Given the description of an element on the screen output the (x, y) to click on. 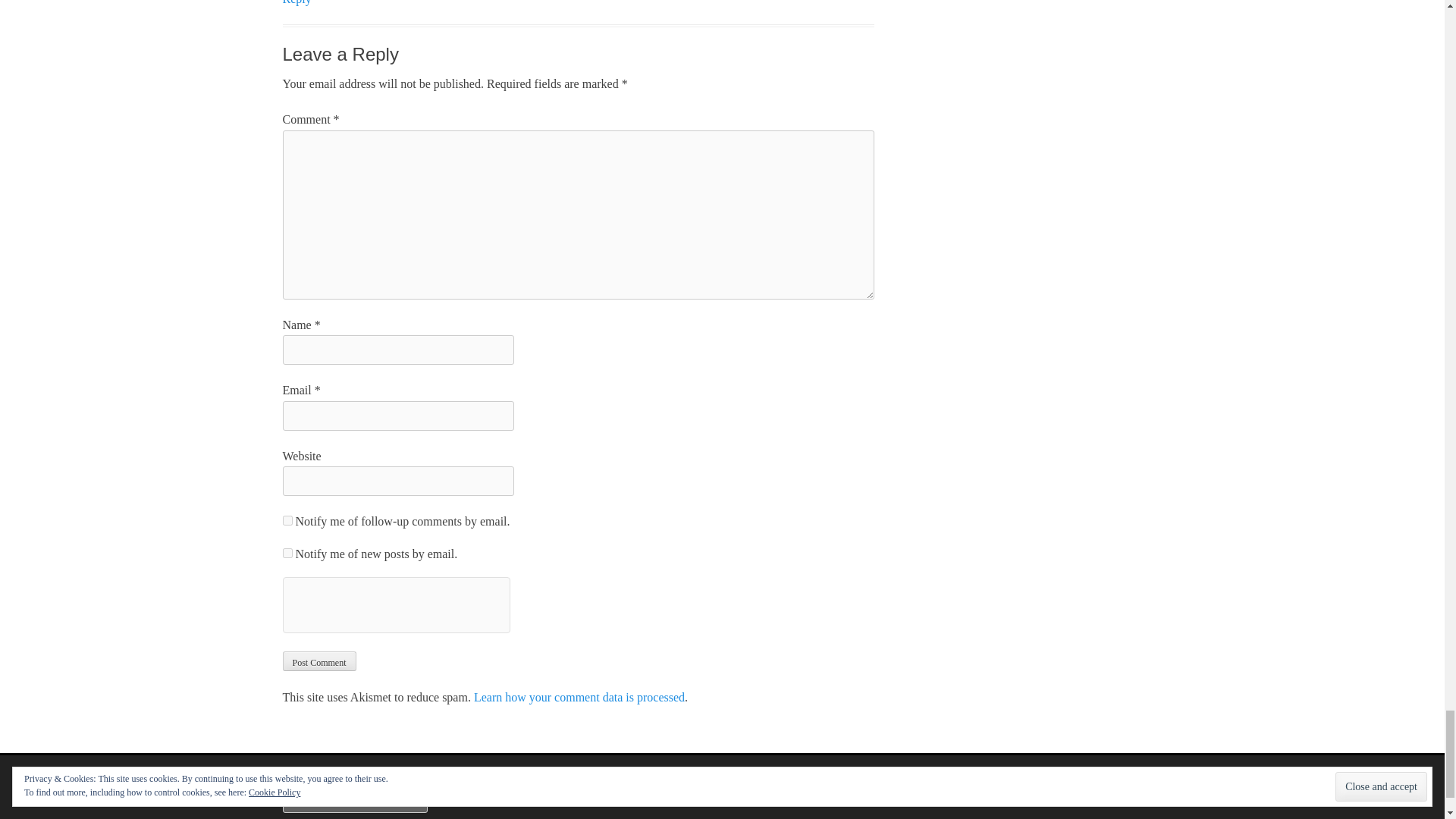
Search for: (354, 799)
subscribe (287, 520)
Post Comment (318, 660)
subscribe (287, 552)
